Given the description of an element on the screen output the (x, y) to click on. 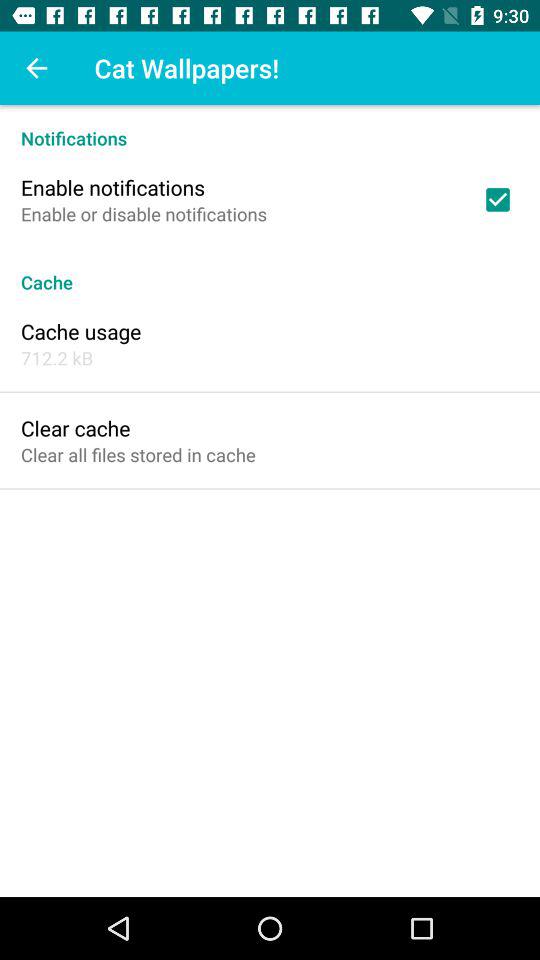
press clear all files (138, 454)
